Given the description of an element on the screen output the (x, y) to click on. 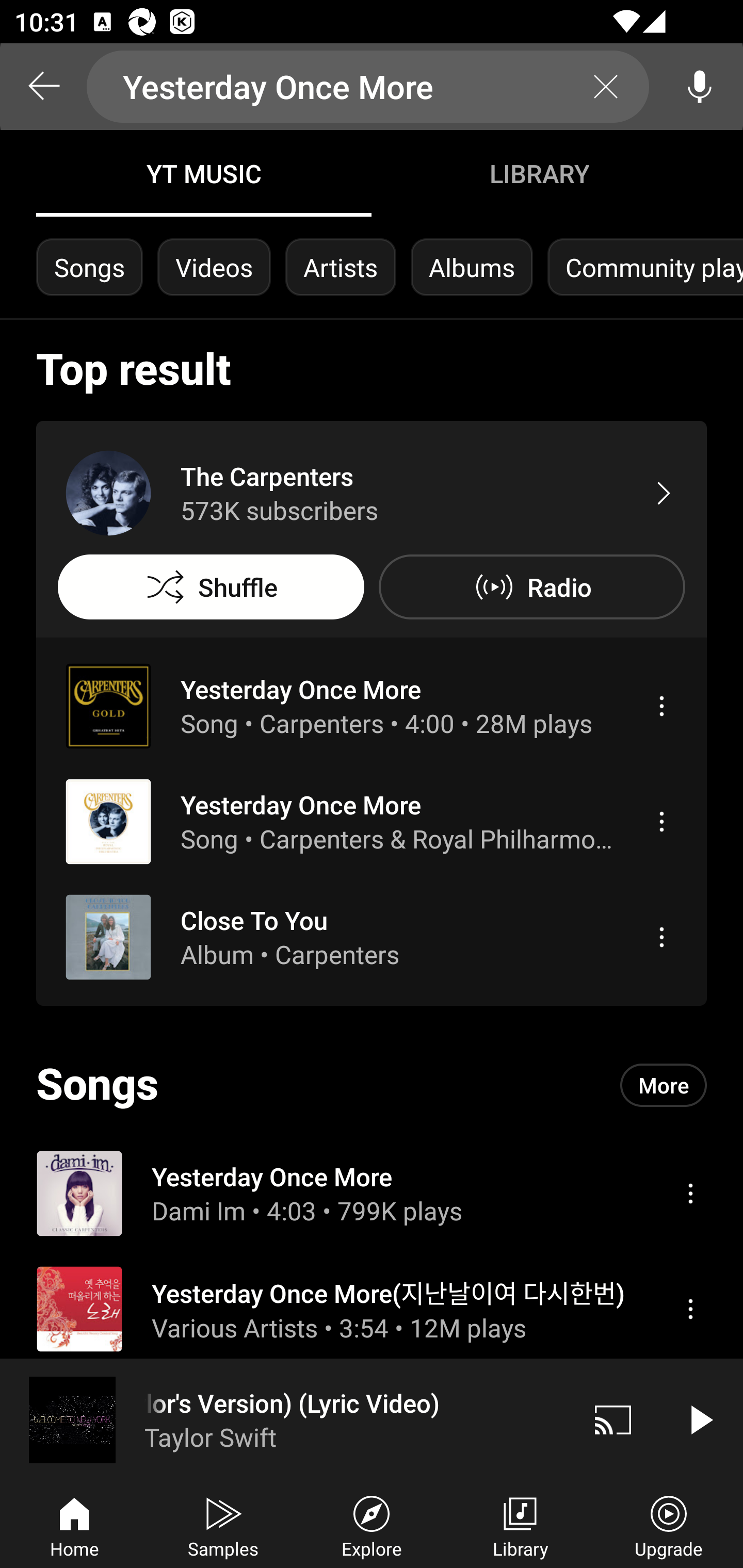
Search back (43, 86)
Yesterday Once More (367, 86)
Clear search (605, 86)
Voice search (699, 86)
Library LIBRARY (538, 173)
Shuffle (210, 587)
Radio (531, 587)
Menu (661, 705)
Menu (661, 821)
Menu (661, 937)
Songs More More (371, 1084)
More (663, 1085)
Menu (690, 1193)
Menu (690, 1309)
Cast. Disconnected (612, 1419)
Play video (699, 1419)
Home (74, 1524)
Samples (222, 1524)
Explore (371, 1524)
Library (519, 1524)
Upgrade (668, 1524)
